Given the description of an element on the screen output the (x, y) to click on. 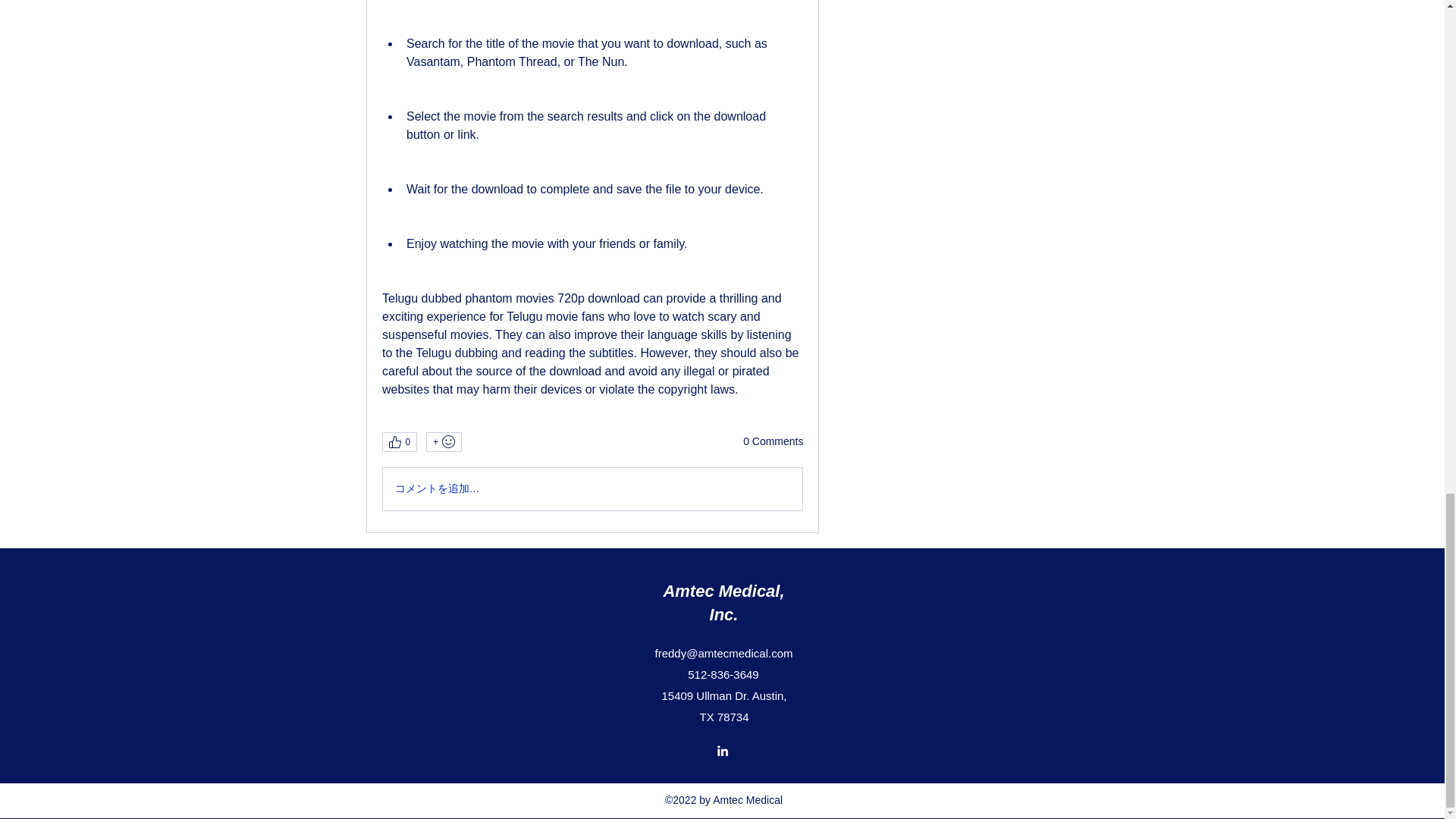
0 Comments (772, 441)
Amtec Medical, Inc. (723, 602)
